Given the description of an element on the screen output the (x, y) to click on. 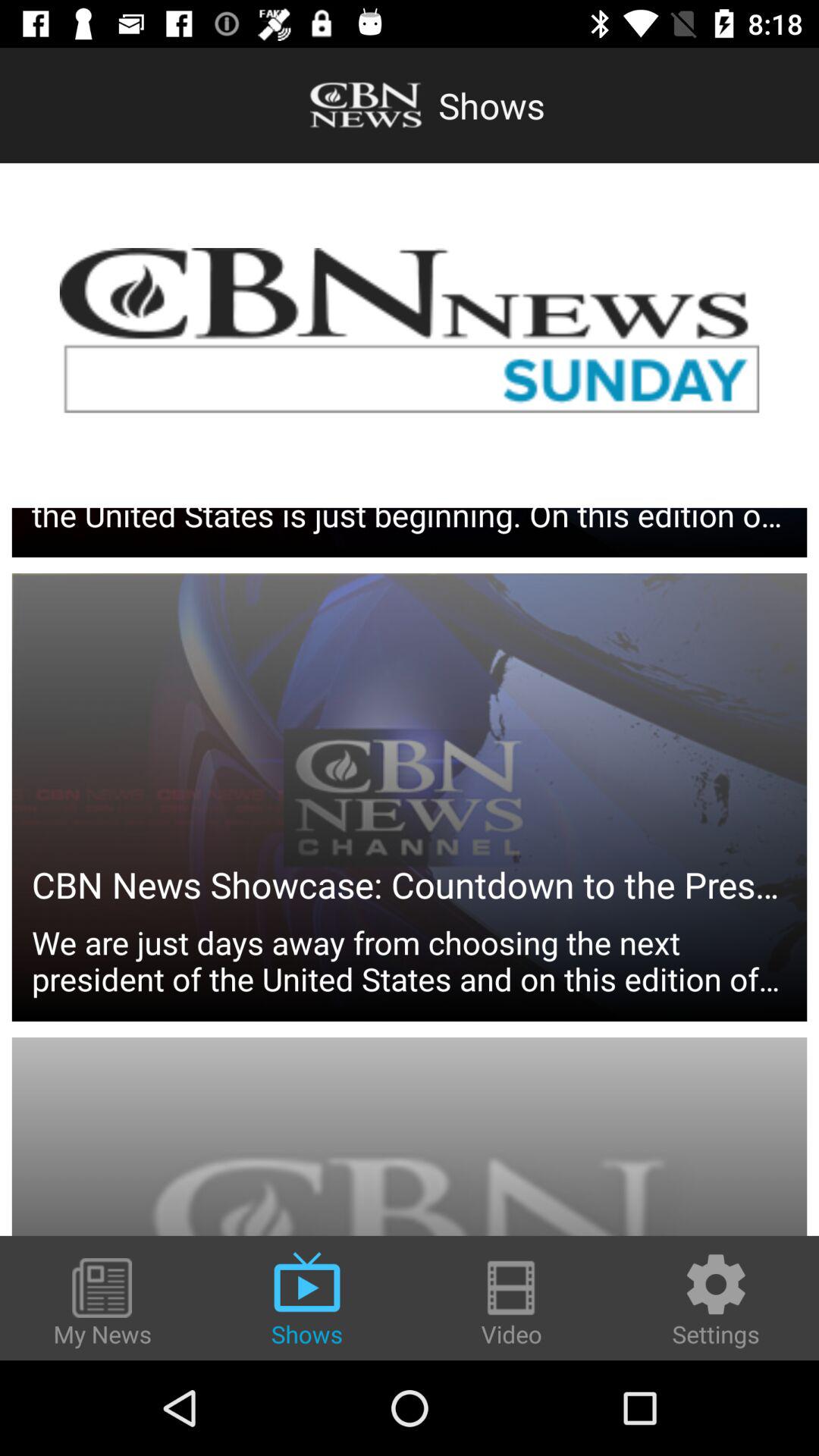
launch we are just item (409, 833)
